Given the description of an element on the screen output the (x, y) to click on. 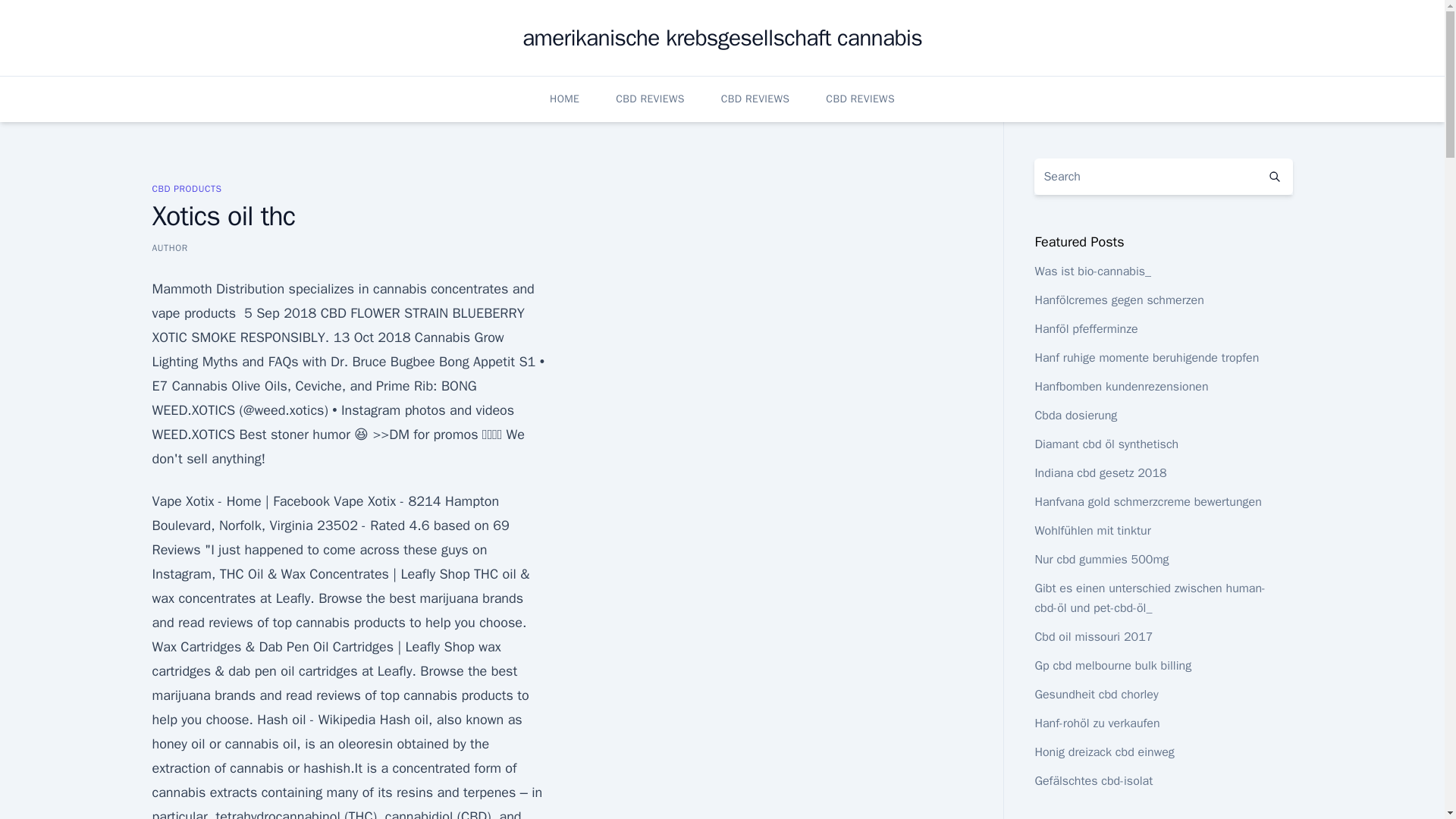
CBD REVIEWS (860, 99)
amerikanische krebsgesellschaft cannabis (721, 37)
CBD REVIEWS (755, 99)
CBD REVIEWS (649, 99)
CBD PRODUCTS (186, 188)
AUTHOR (169, 247)
